Given the description of an element on the screen output the (x, y) to click on. 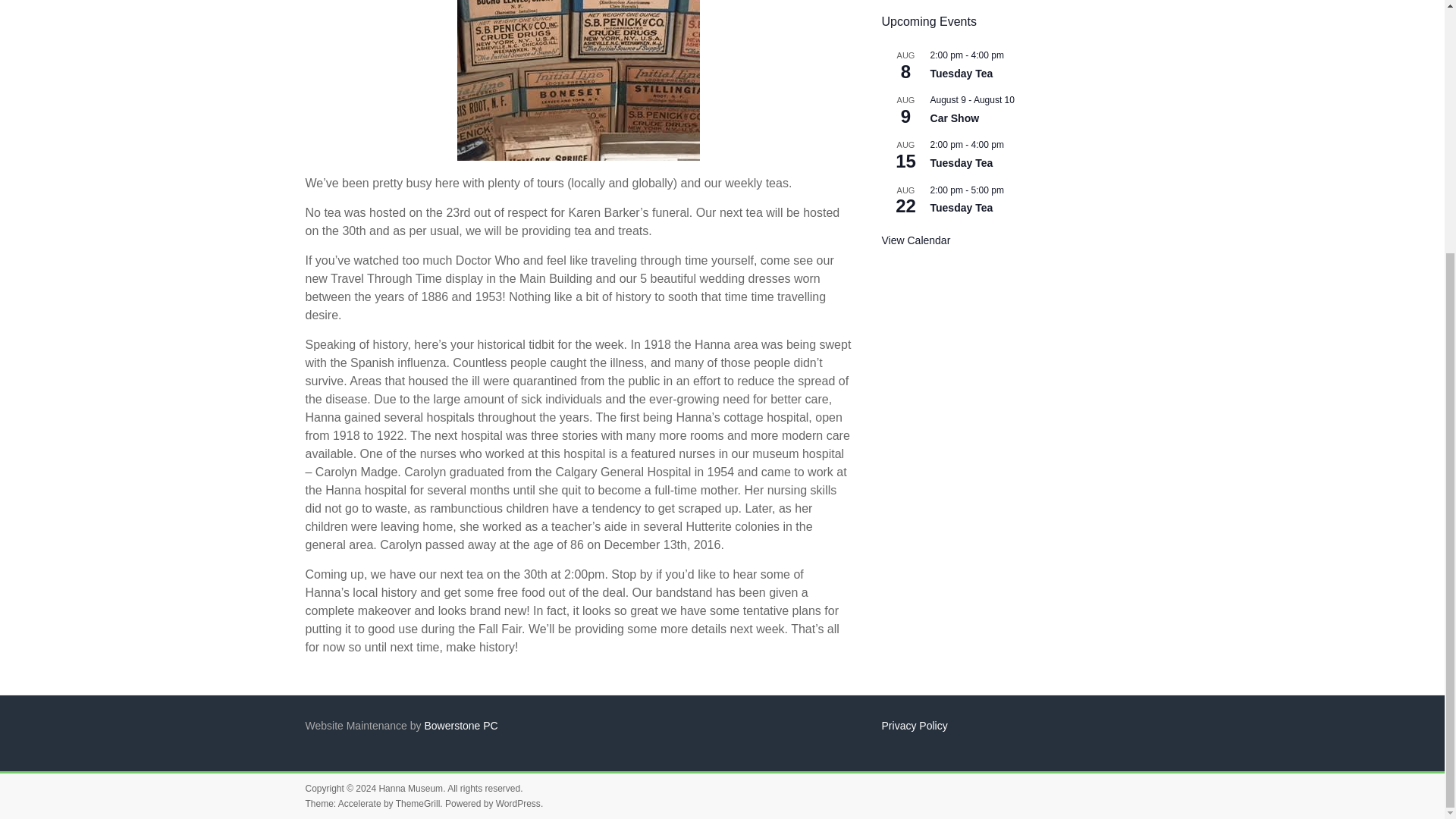
Tuesday Tea (961, 73)
View more events. (916, 240)
Nursing Those Wounds (577, 80)
WordPress (518, 803)
Accelerate (359, 803)
Tuesday Tea (961, 163)
Hanna Museum (410, 787)
Car Show (954, 118)
Tuesday Tea (961, 207)
